Given the description of an element on the screen output the (x, y) to click on. 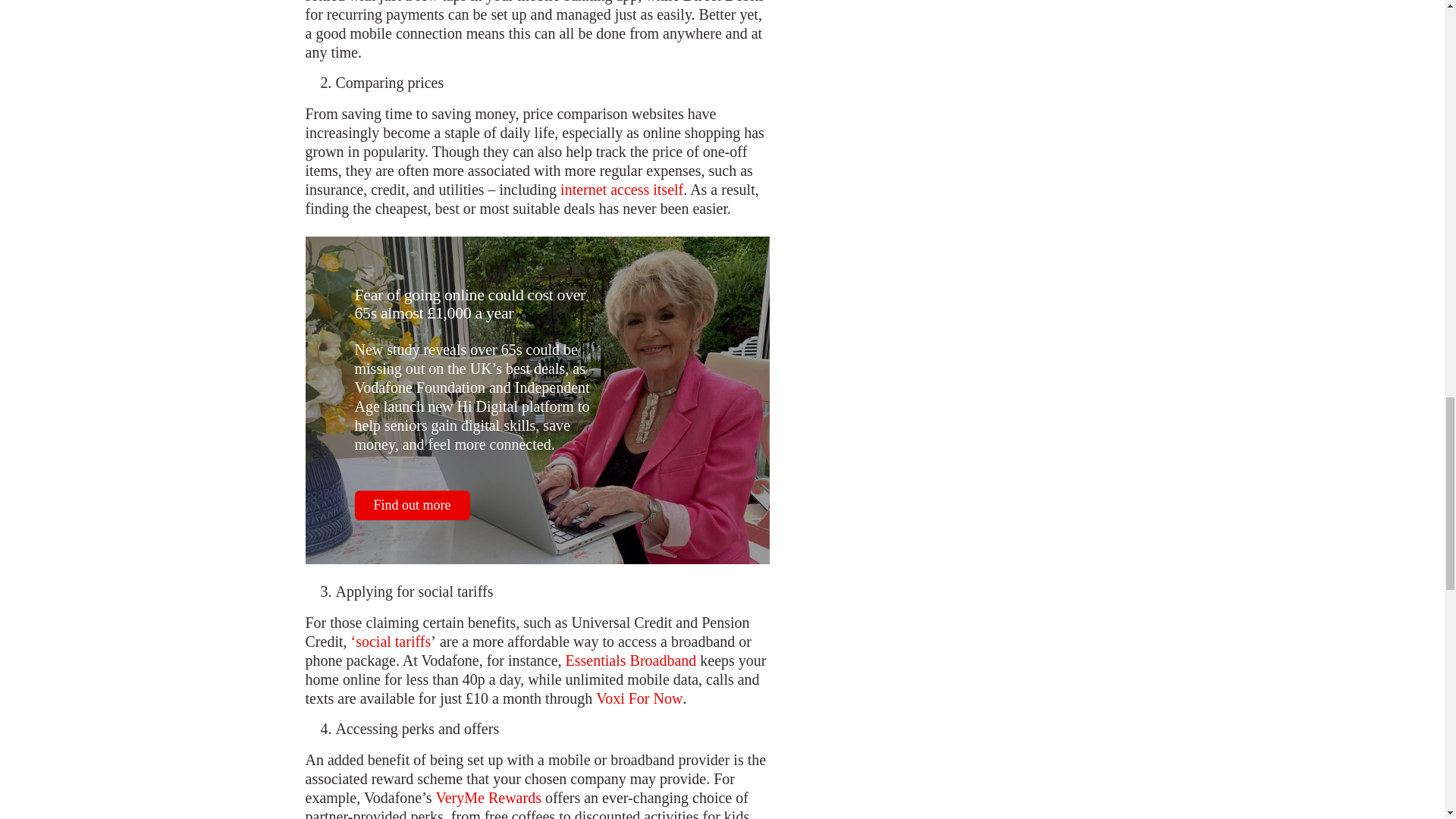
Essentials Broadband (631, 660)
Find out more (412, 505)
VeryMe Rewards (488, 797)
internet access itself (621, 189)
Voxi For Now (638, 698)
